Given the description of an element on the screen output the (x, y) to click on. 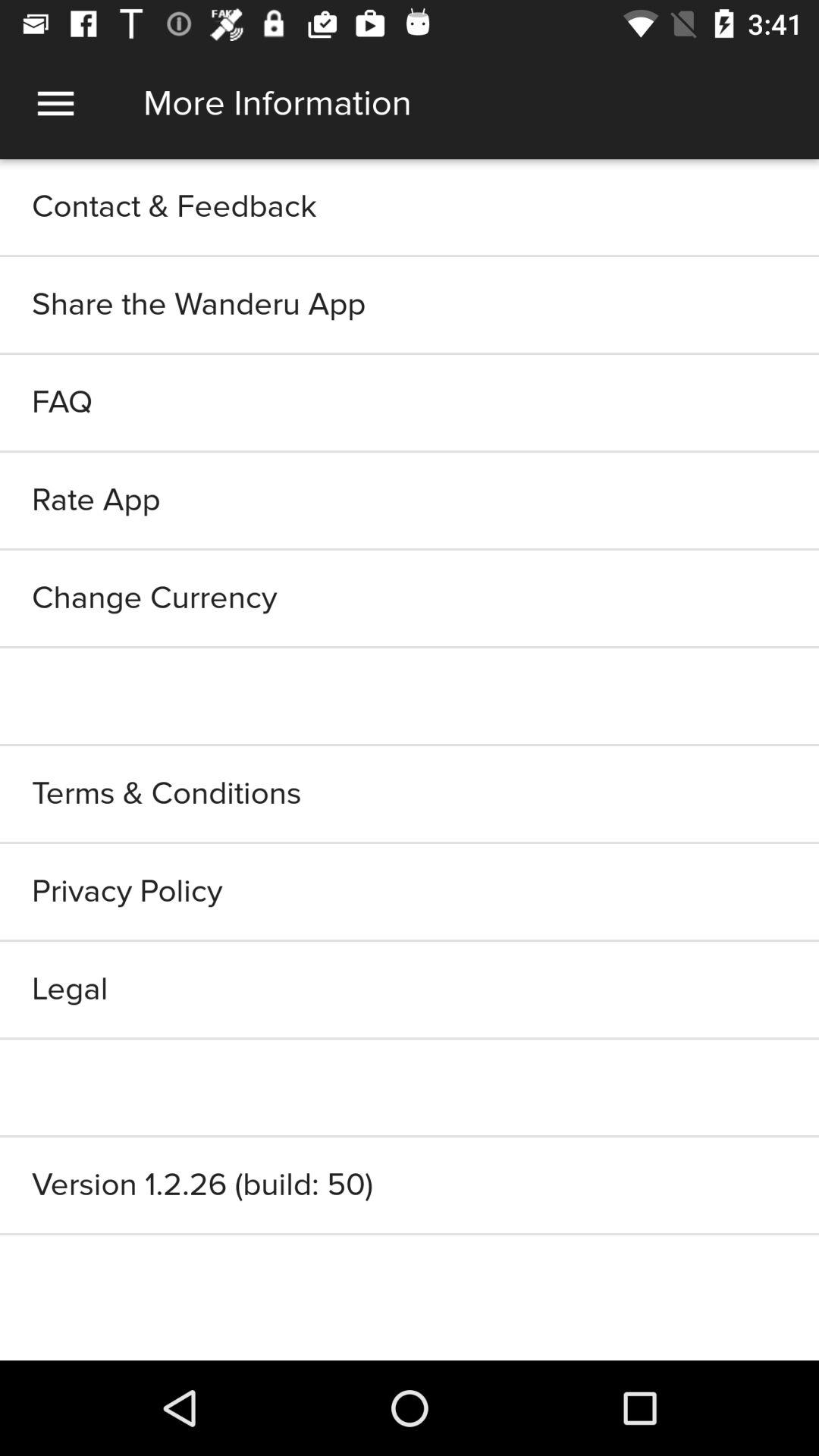
turn off terms & conditions (409, 793)
